Given the description of an element on the screen output the (x, y) to click on. 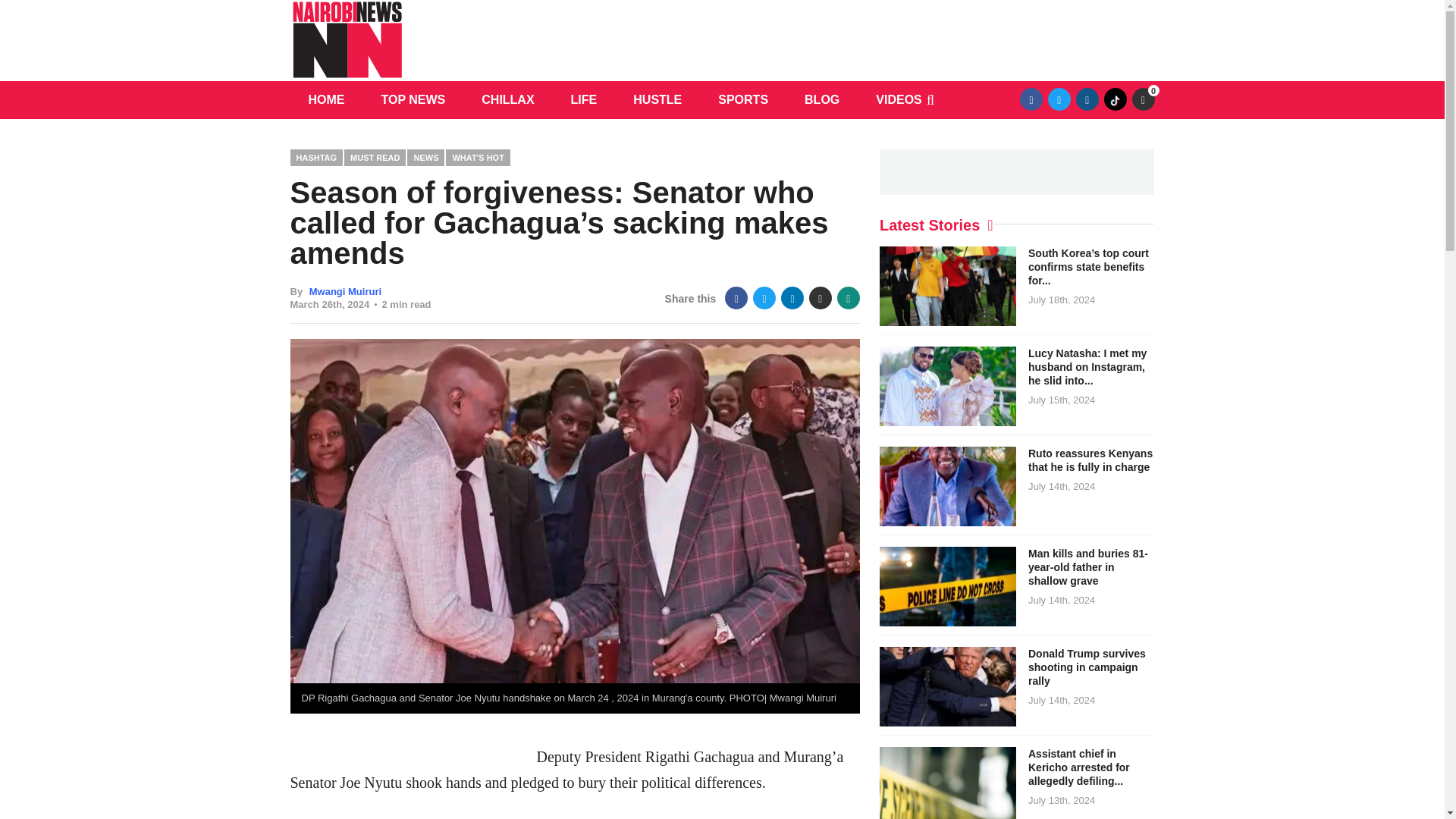
MUST READ (374, 157)
Facebook (736, 297)
Twitter (764, 297)
SPORTS (743, 99)
Twitter (1059, 98)
VIDEOS (898, 99)
WHAT'S HOT (477, 157)
Instagram (1087, 98)
Updates made in the last 20 minutes (1142, 98)
HOME (325, 99)
Mwangi Muiruri (344, 291)
CHILLAX (507, 99)
WhatsApp (848, 297)
Email (820, 297)
HUSTLE (657, 99)
